Given the description of an element on the screen output the (x, y) to click on. 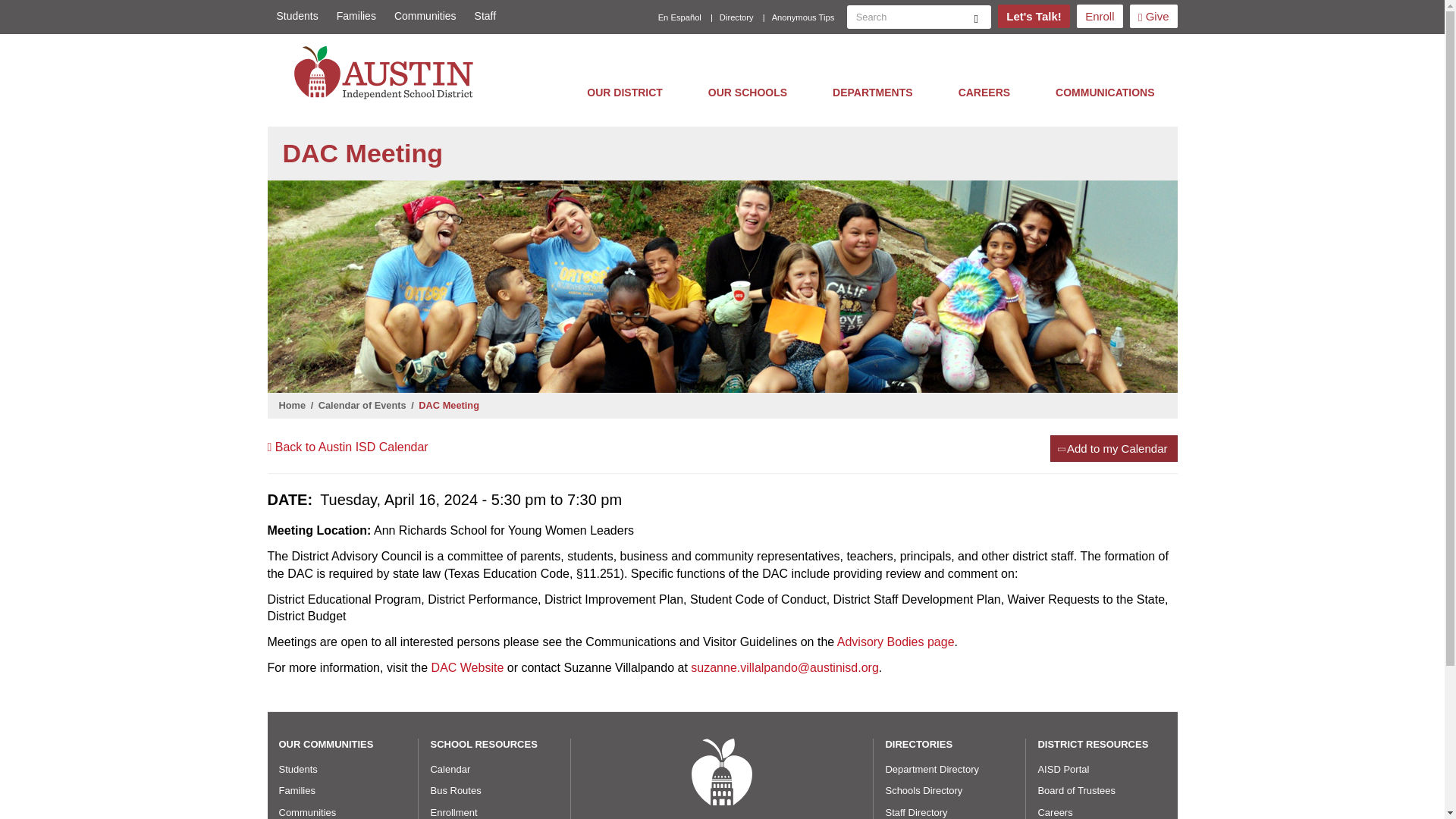
Enroll (1099, 15)
Anonymous Tips (803, 17)
Search (975, 16)
OUR SCHOOLS (747, 91)
Submit your questions or feedback! (1032, 15)
Students (296, 15)
Communities (425, 15)
DEPARTMENTS (872, 91)
OUR DISTRICT (624, 91)
The Austin Independent School District (387, 72)
